Given the description of an element on the screen output the (x, y) to click on. 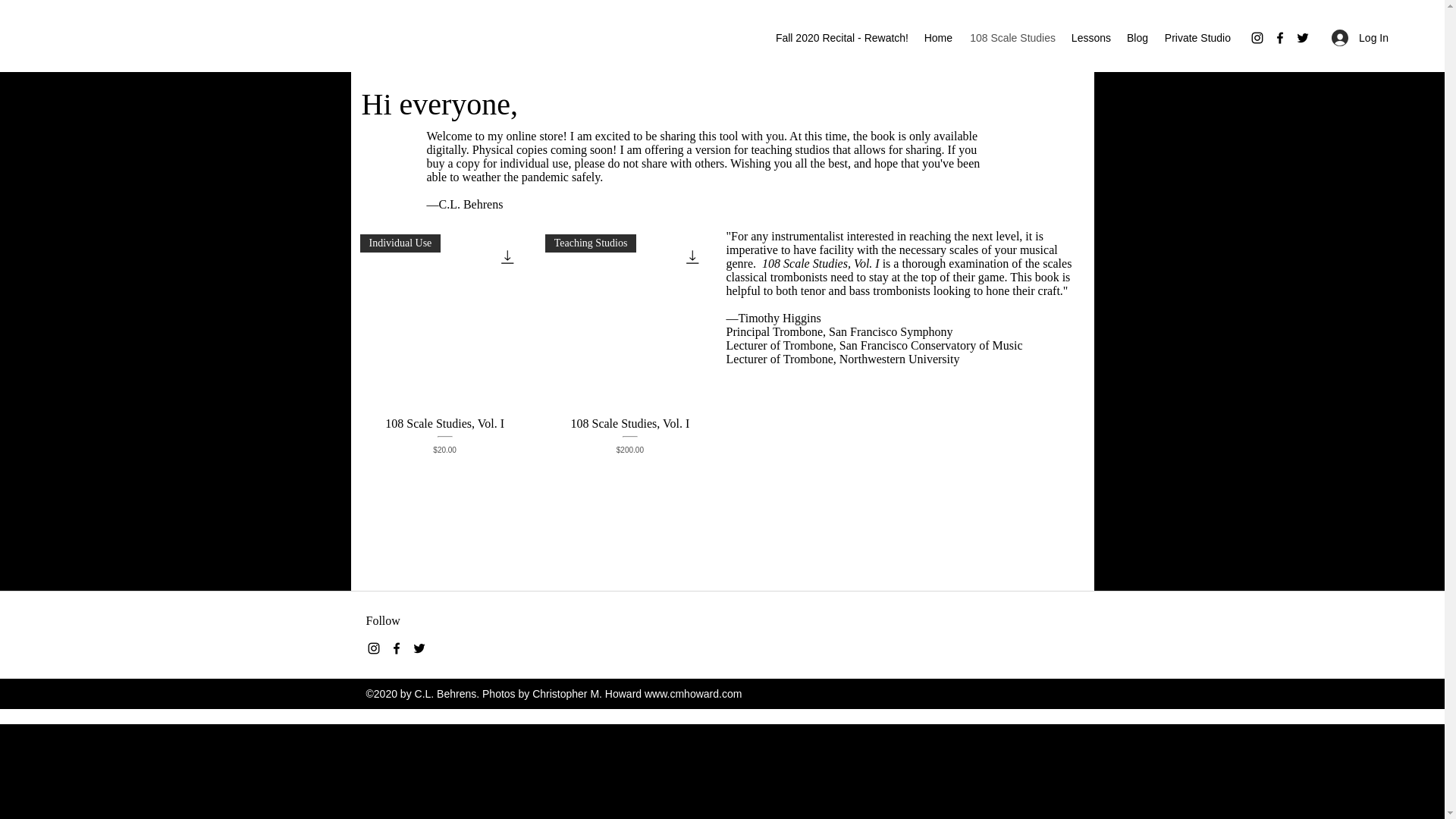
108 Scale Studies (1010, 37)
Private Studio (1197, 37)
Fall 2020 Recital - Rewatch! (840, 37)
Blog (1137, 37)
Log In (1359, 37)
Home (937, 37)
Individual Use (444, 319)
Teaching Studios (629, 319)
Lessons (1090, 37)
www.cmhoward.com (693, 693)
